Given the description of an element on the screen output the (x, y) to click on. 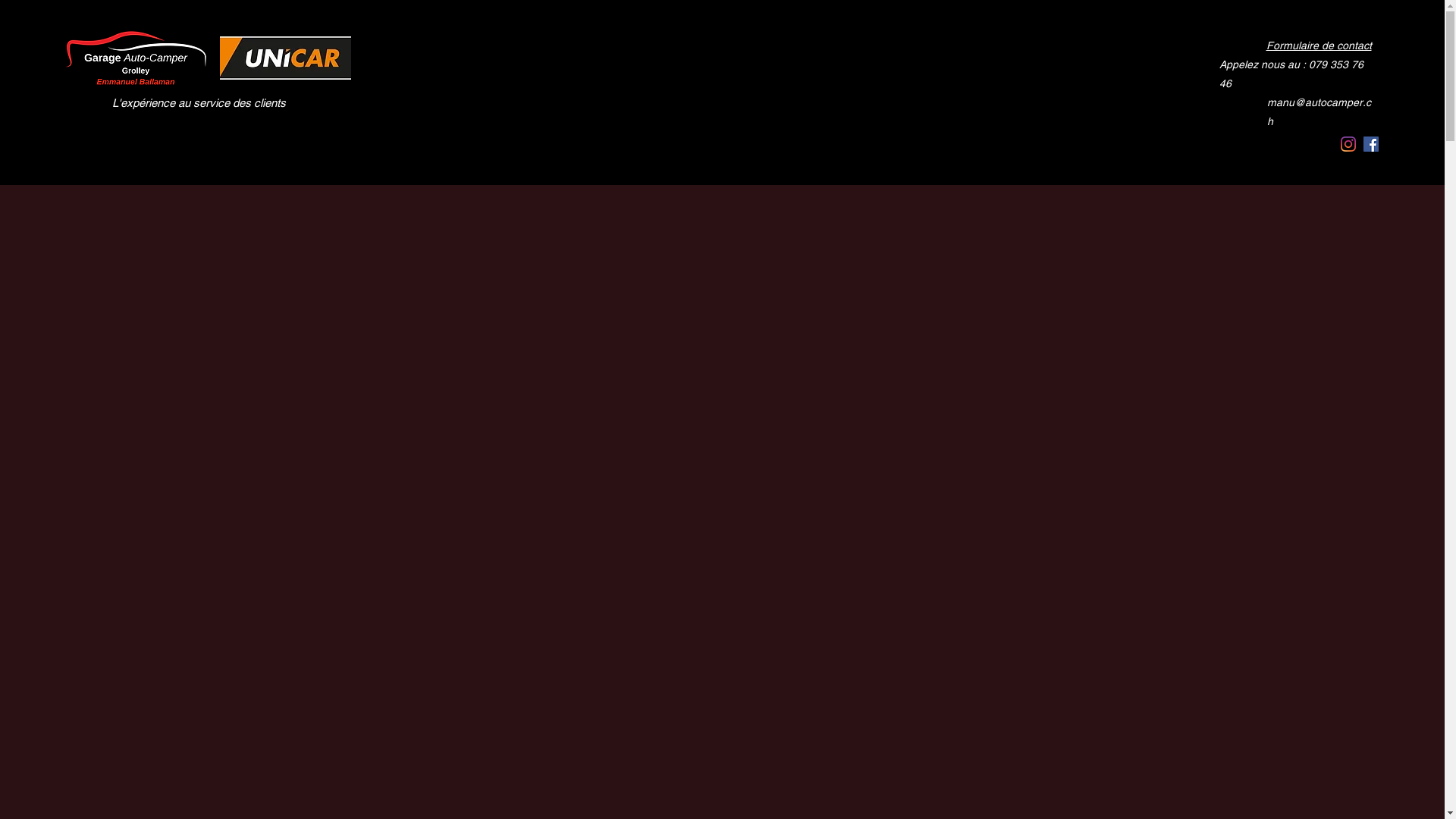
Appelez nous au : 079 353 76 46 Element type: text (1297, 64)
Formulaire de contact Element type: text (1317, 45)
manu@autocamper.ch Element type: text (1320, 83)
